Given the description of an element on the screen output the (x, y) to click on. 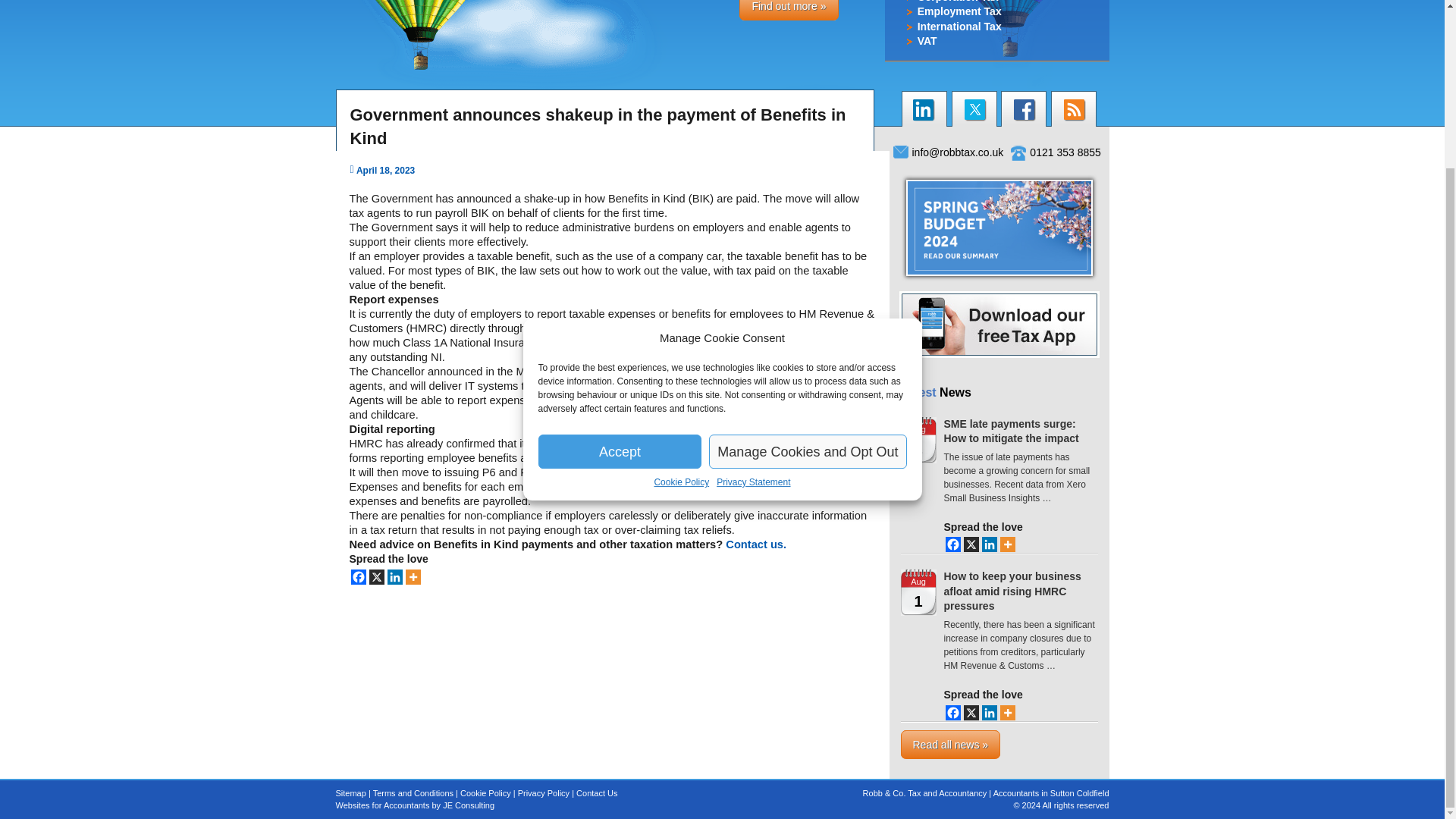
Facebook (951, 712)
Accept (619, 250)
Linkedin (988, 712)
More (1006, 544)
Cookie Policy (681, 281)
Manage Cookies and Opt Out (807, 250)
X (970, 712)
Linkedin (394, 576)
Privacy Statement (753, 281)
Facebook (357, 576)
